Given the description of an element on the screen output the (x, y) to click on. 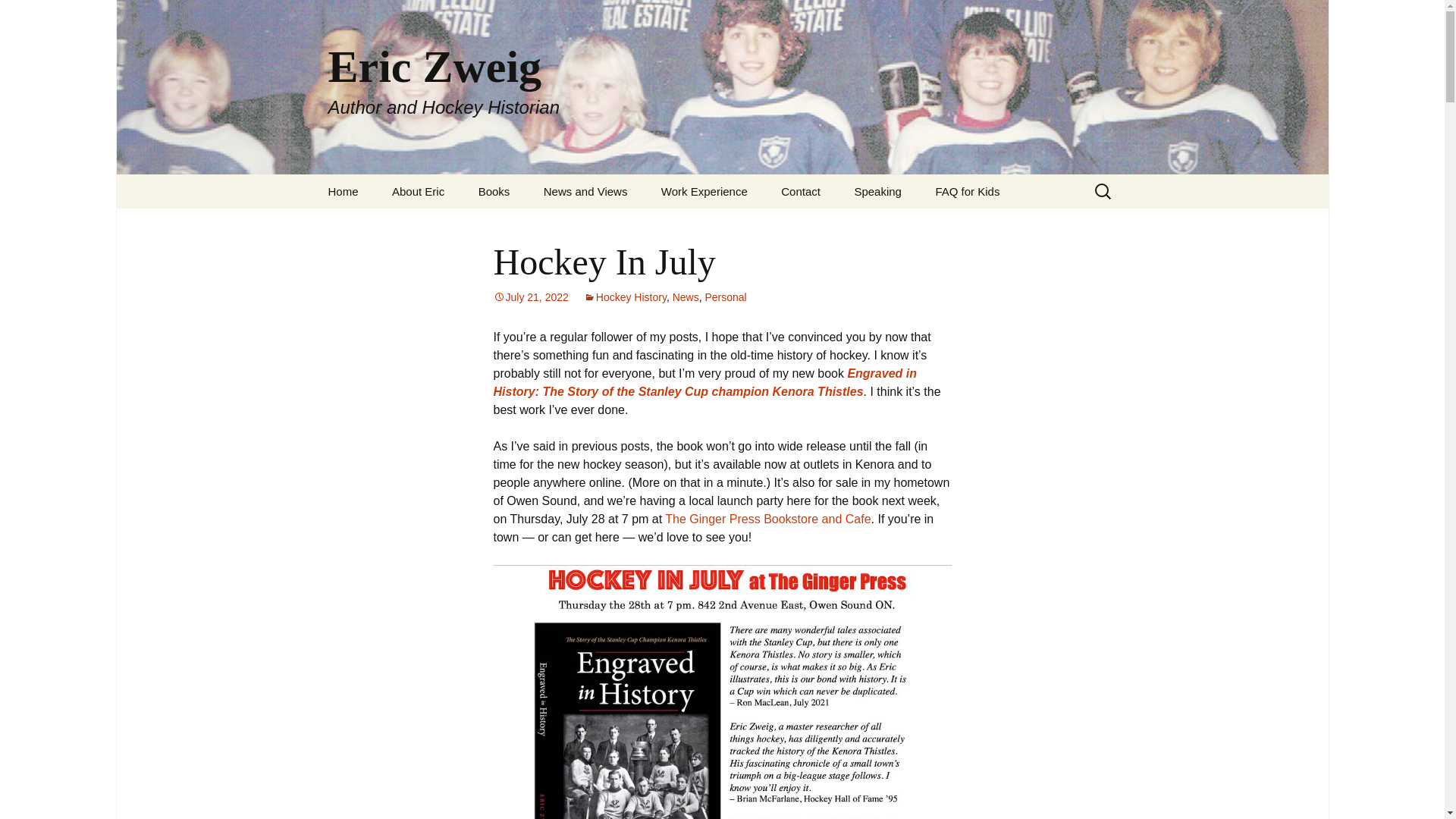
Home (342, 191)
Search (18, 15)
Speaking (877, 191)
Hockey History (624, 297)
The Ginger Press Bookstore and Cafe (767, 518)
Contact (800, 191)
